Given the description of an element on the screen output the (x, y) to click on. 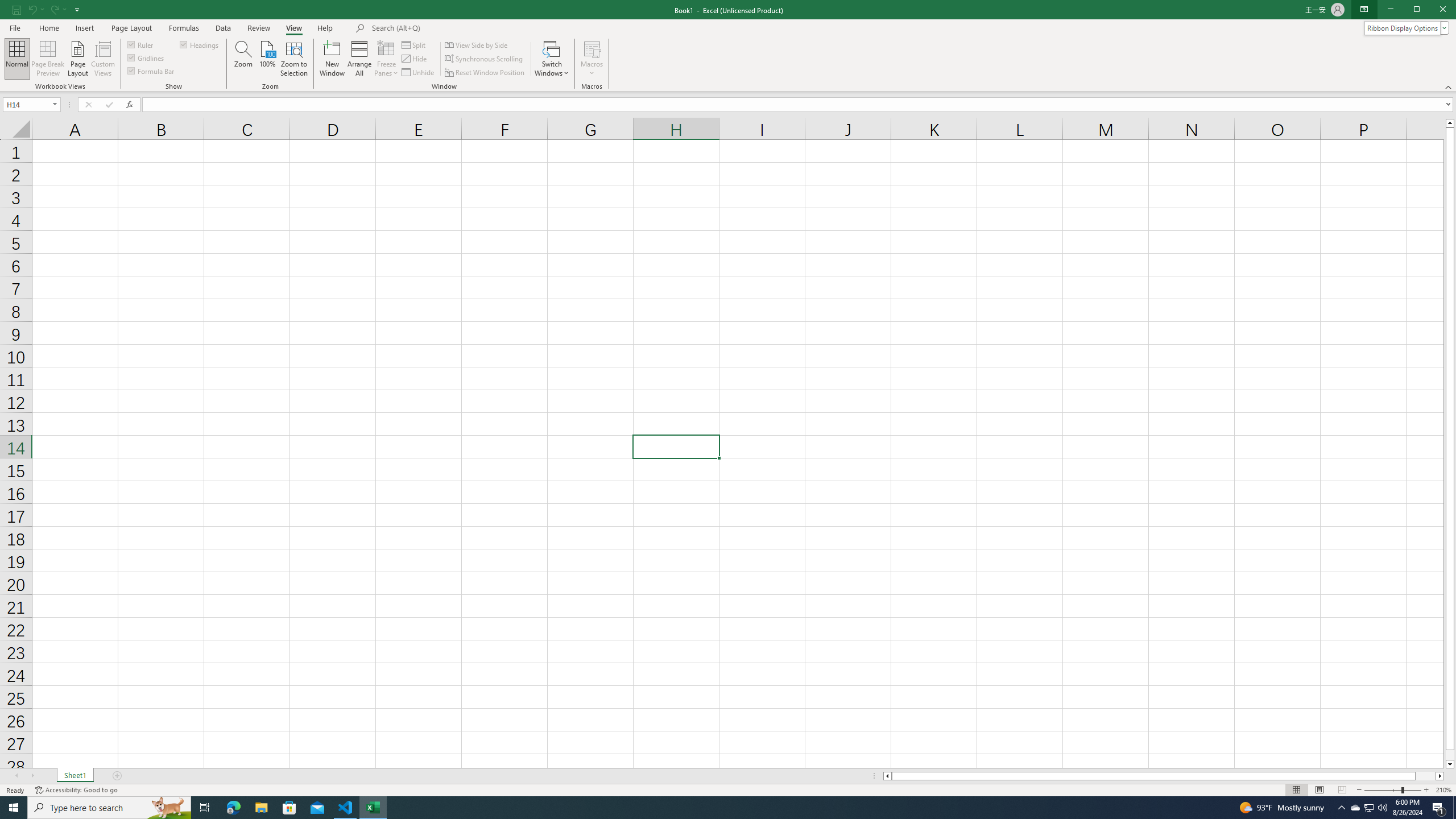
Gridlines (146, 56)
